Given the description of an element on the screen output the (x, y) to click on. 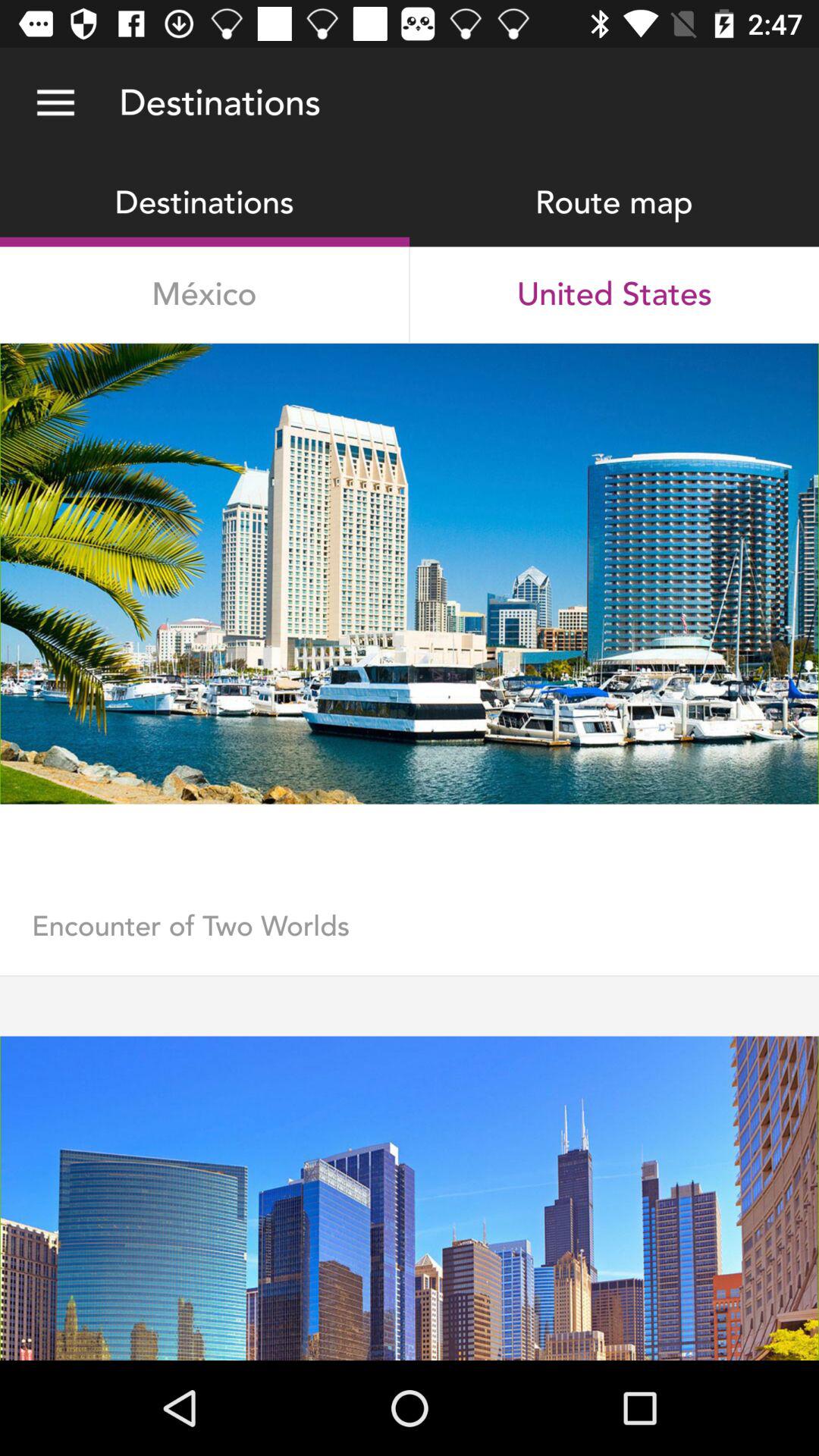
jump to encounter of two item (409, 942)
